Given the description of an element on the screen output the (x, y) to click on. 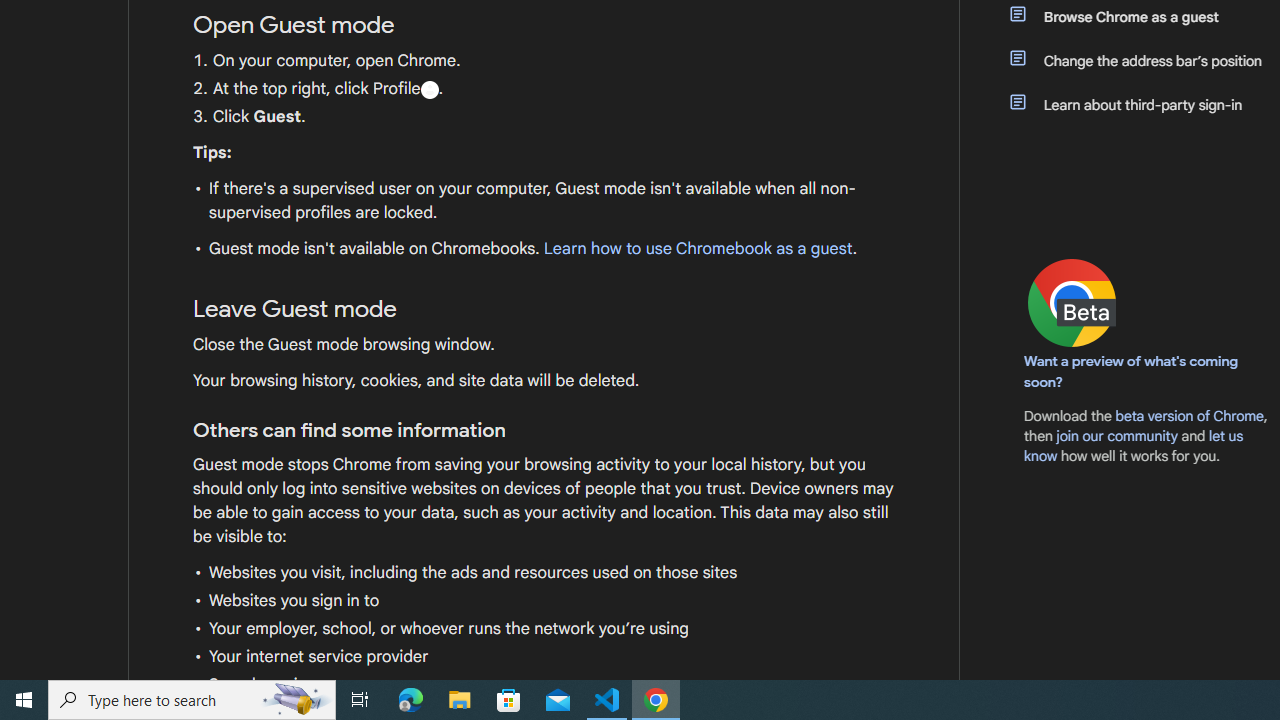
Profile (429, 89)
join our community (1116, 435)
Want a preview of what's coming soon? (1131, 371)
let us know (1134, 445)
Learn how to use Chromebook as a guest (697, 249)
beta version of Chrome (1189, 415)
Chrome Beta logo (1072, 302)
